Given the description of an element on the screen output the (x, y) to click on. 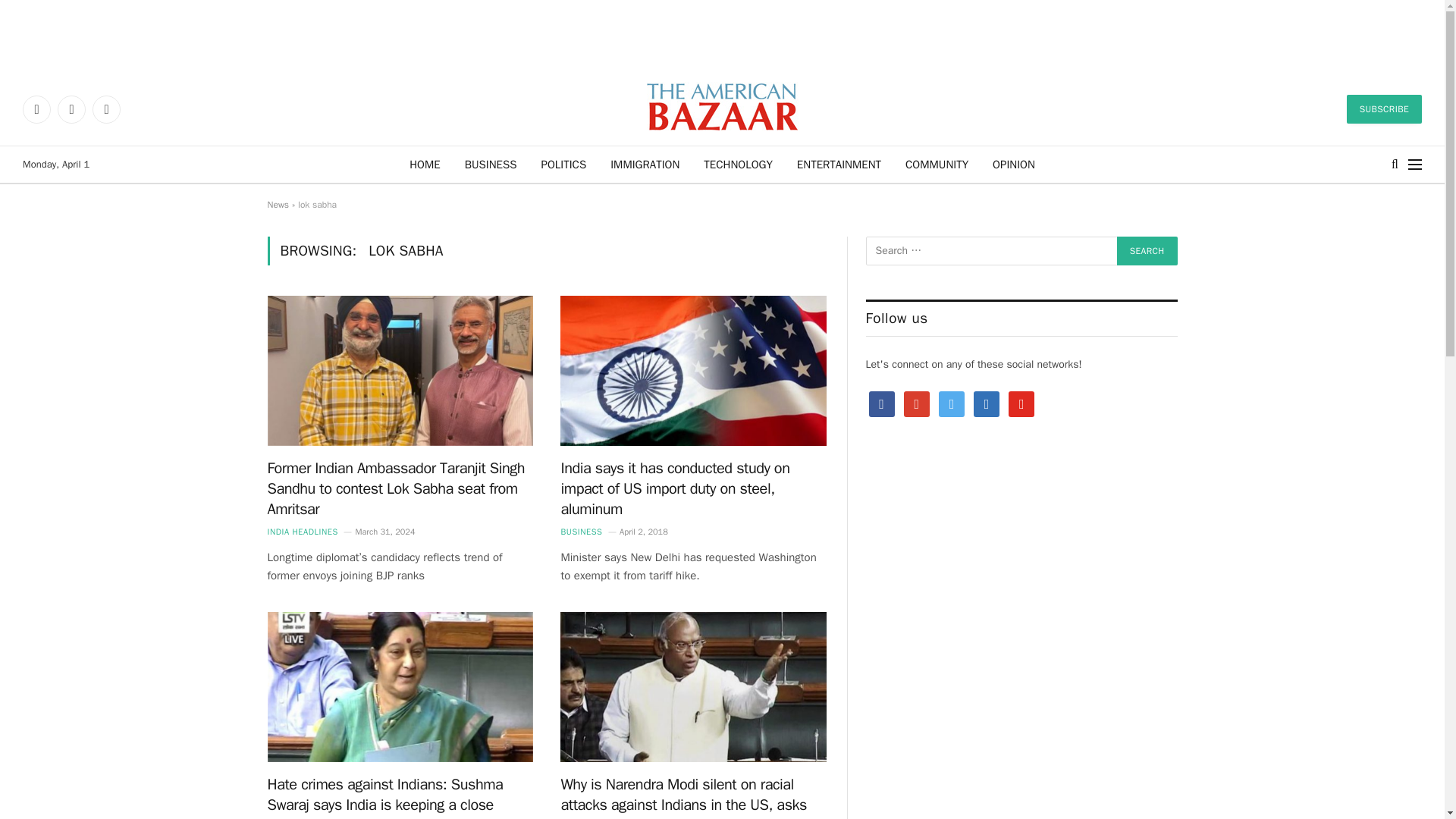
Twitter (71, 109)
Advertisement (722, 33)
Search (1146, 250)
Follow Me (951, 403)
SUBSCRIBE (1384, 109)
TECHNOLOGY (737, 164)
Search (1146, 250)
OPINION (1012, 164)
BUSINESS (581, 531)
